Given the description of an element on the screen output the (x, y) to click on. 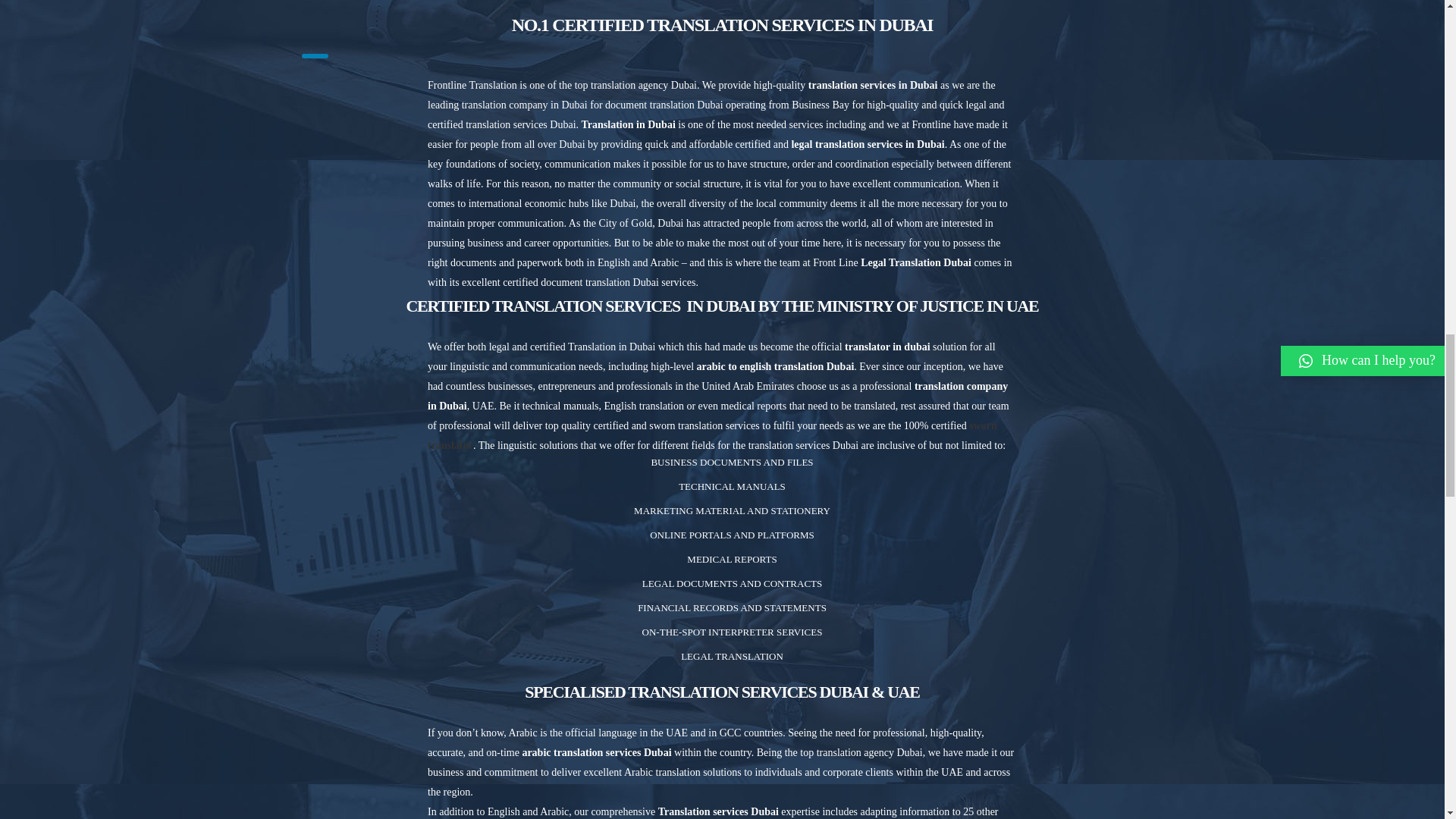
arabic to english translation Dubai (775, 366)
sworn translator (712, 435)
legal translation services in Dubai (866, 143)
arabic translation services Dubai (596, 752)
